Given the description of an element on the screen output the (x, y) to click on. 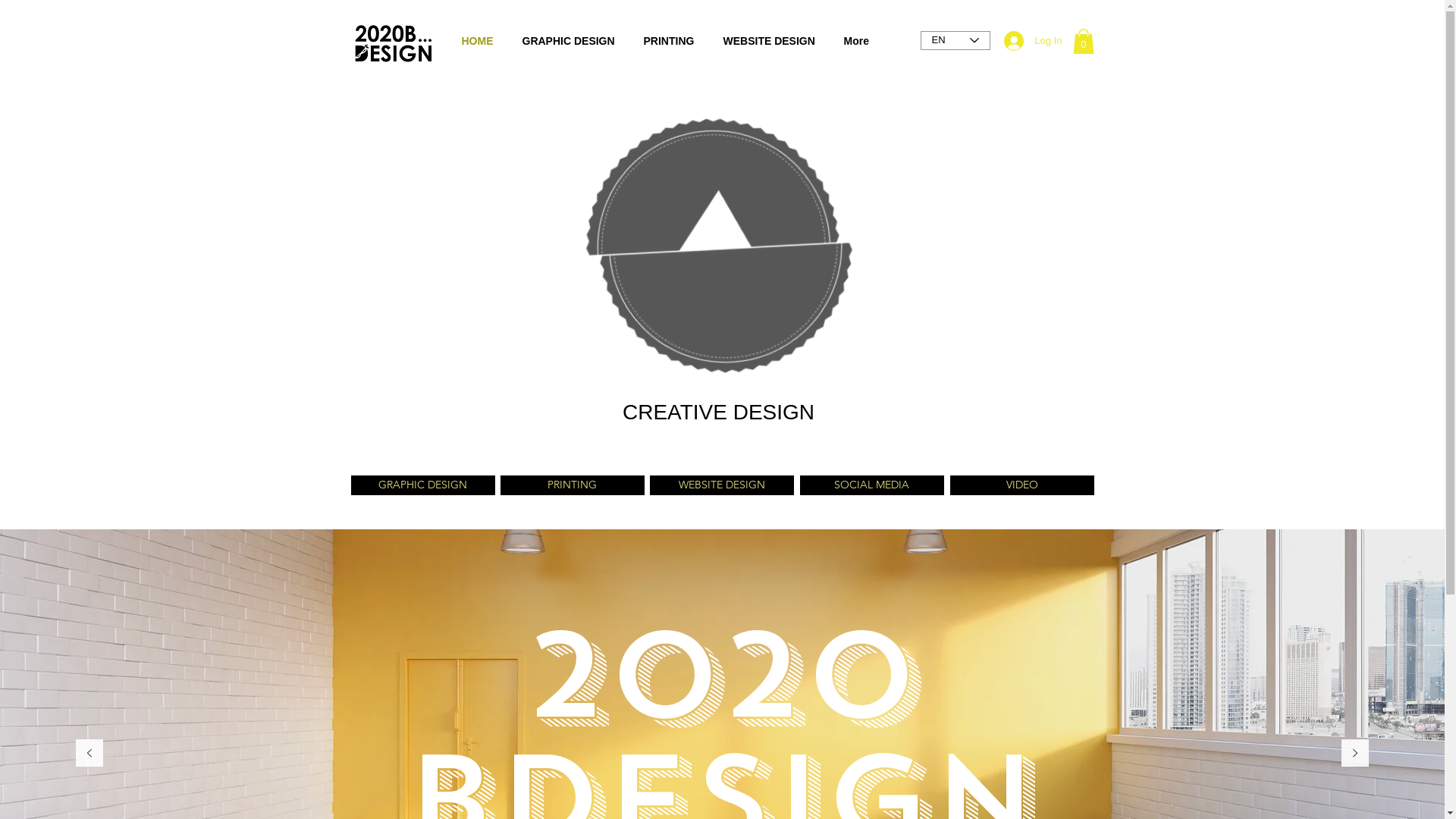
VIDEO Element type: text (1021, 485)
WEBSITE DESIGN Element type: text (768, 40)
GRAPHIC DESIGN Element type: text (568, 40)
WEBSITE DESIGN Element type: text (721, 485)
PRINTING Element type: text (572, 485)
PRINTING Element type: text (669, 40)
Log In Element type: text (1032, 40)
SOCIAL MEDIA Element type: text (871, 485)
GRAPHIC DESIGN Element type: text (422, 485)
0 Element type: text (1082, 40)
HOME Element type: text (477, 40)
